Given the description of an element on the screen output the (x, y) to click on. 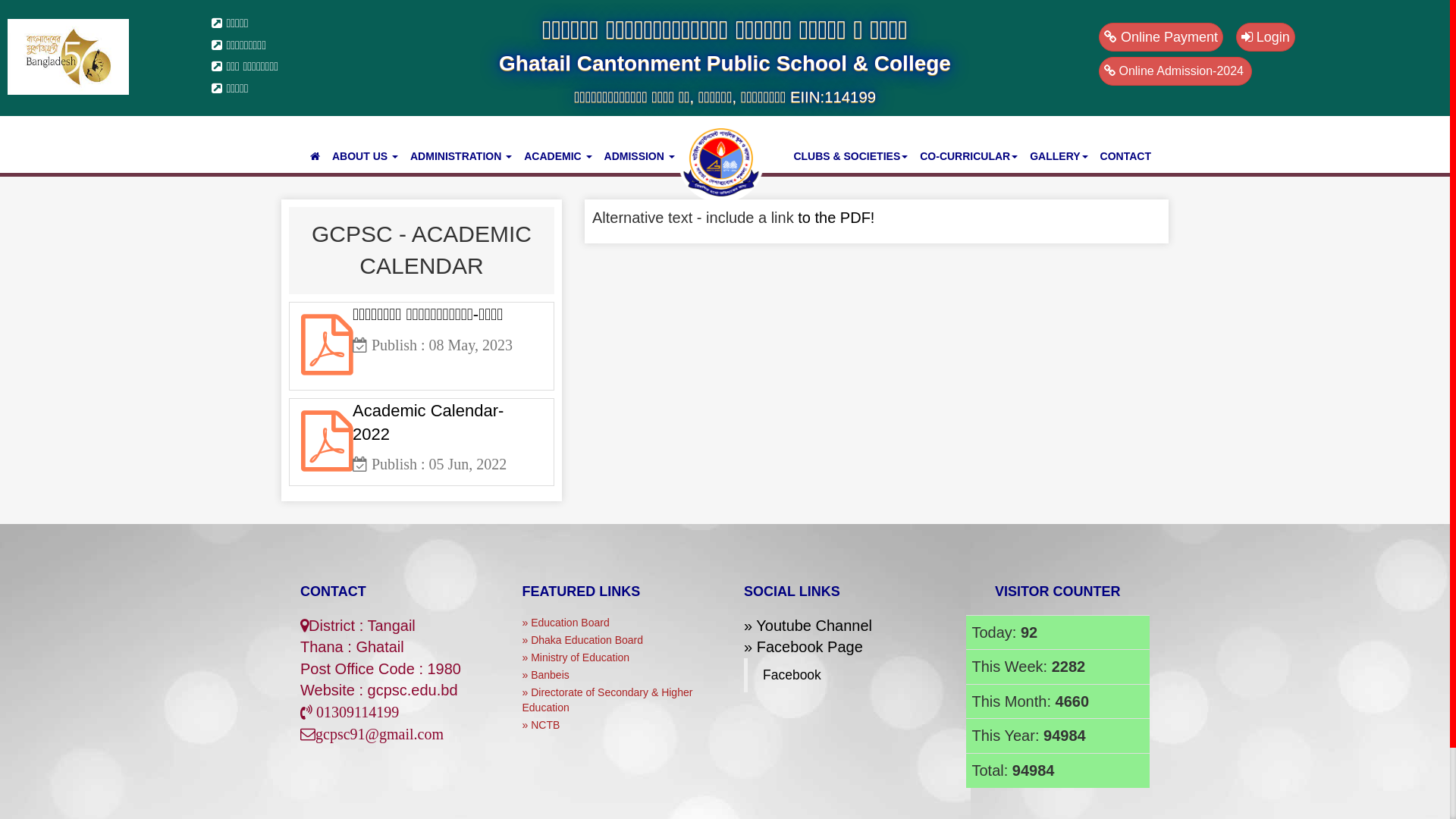
agc Element type: hover (721, 161)
CO-CURRICULAR Element type: text (968, 155)
CLUBS & SOCIETIES Element type: text (850, 155)
ABOUT US Element type: text (365, 155)
ACADEMIC Element type: text (557, 155)
CONTACT Element type: text (1125, 155)
Online Admission-2024  Element type: text (1175, 70)
CONTACT Element type: text (333, 591)
ADMISSION Element type: text (639, 155)
Login Element type: text (1265, 36)
Facebook Element type: text (791, 674)
to the PDF! Element type: text (835, 217)
Online Payment Element type: text (1160, 36)
ADMINISTRATION Element type: text (460, 155)
GALLERY Element type: text (1058, 155)
Academic Calendar-2022 Element type: text (441, 435)
